Given the description of an element on the screen output the (x, y) to click on. 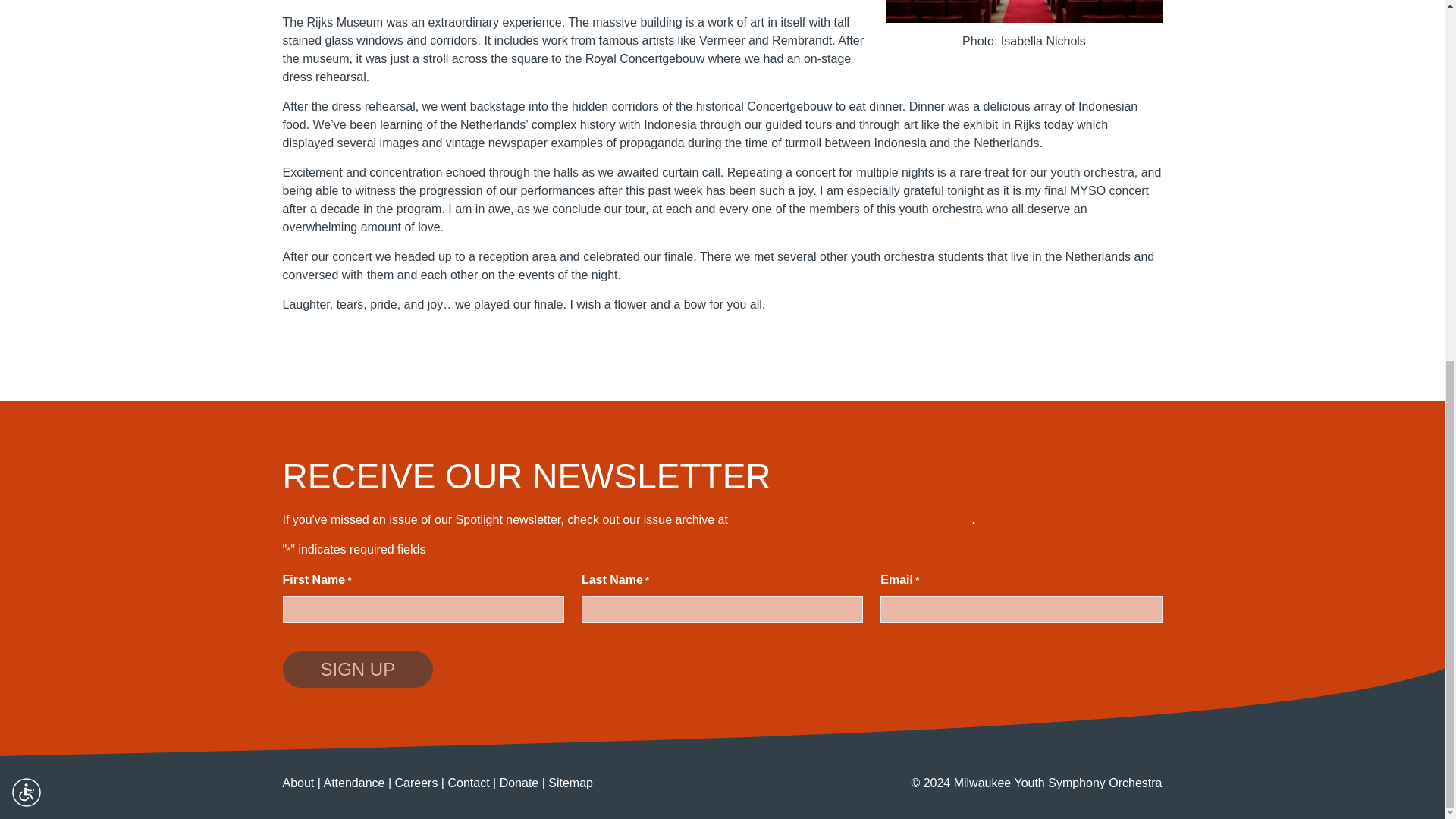
Sign Up (357, 669)
Accessibility Menu (26, 150)
